Given the description of an element on the screen output the (x, y) to click on. 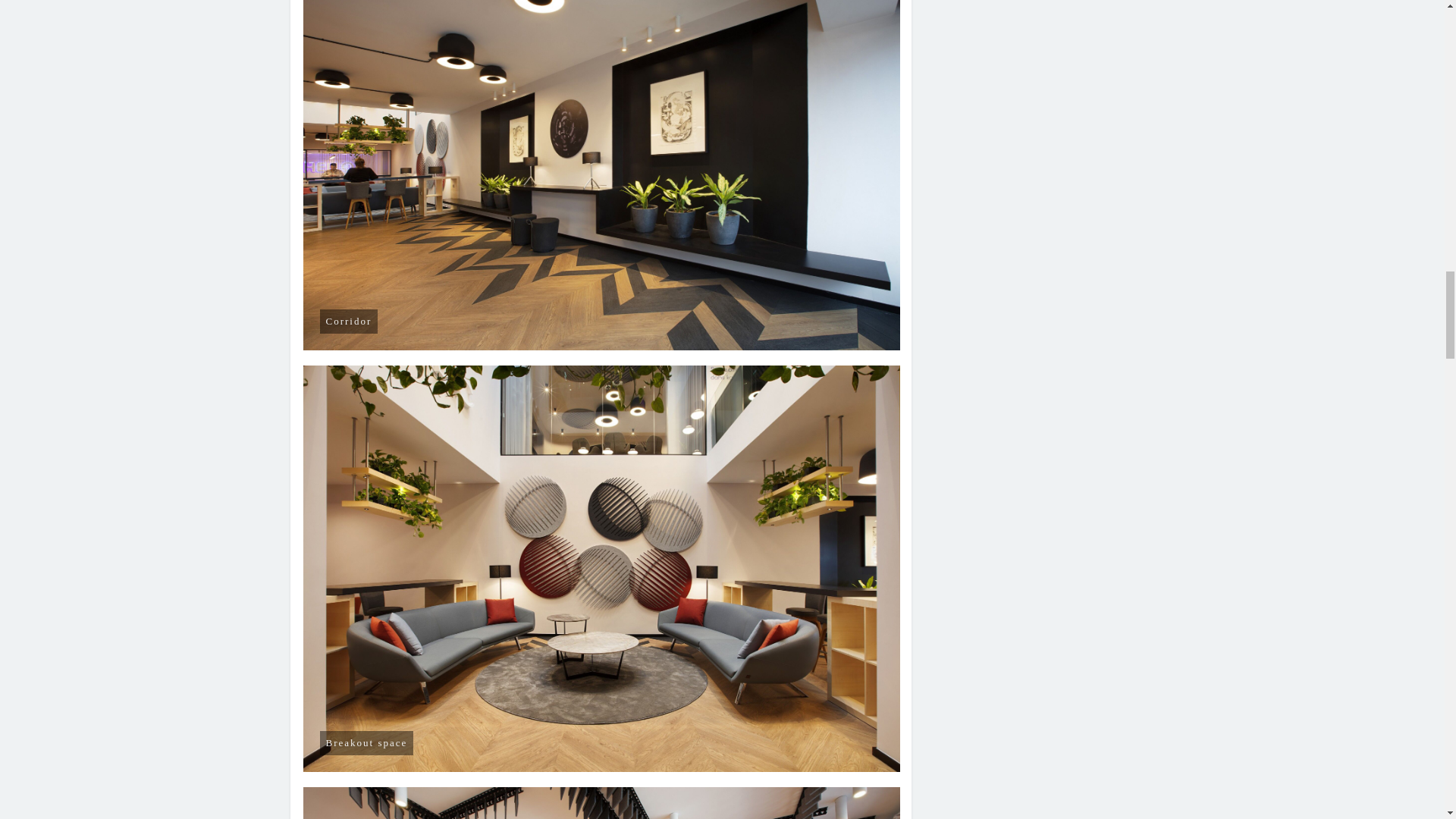
Communal space (601, 803)
